Given the description of an element on the screen output the (x, y) to click on. 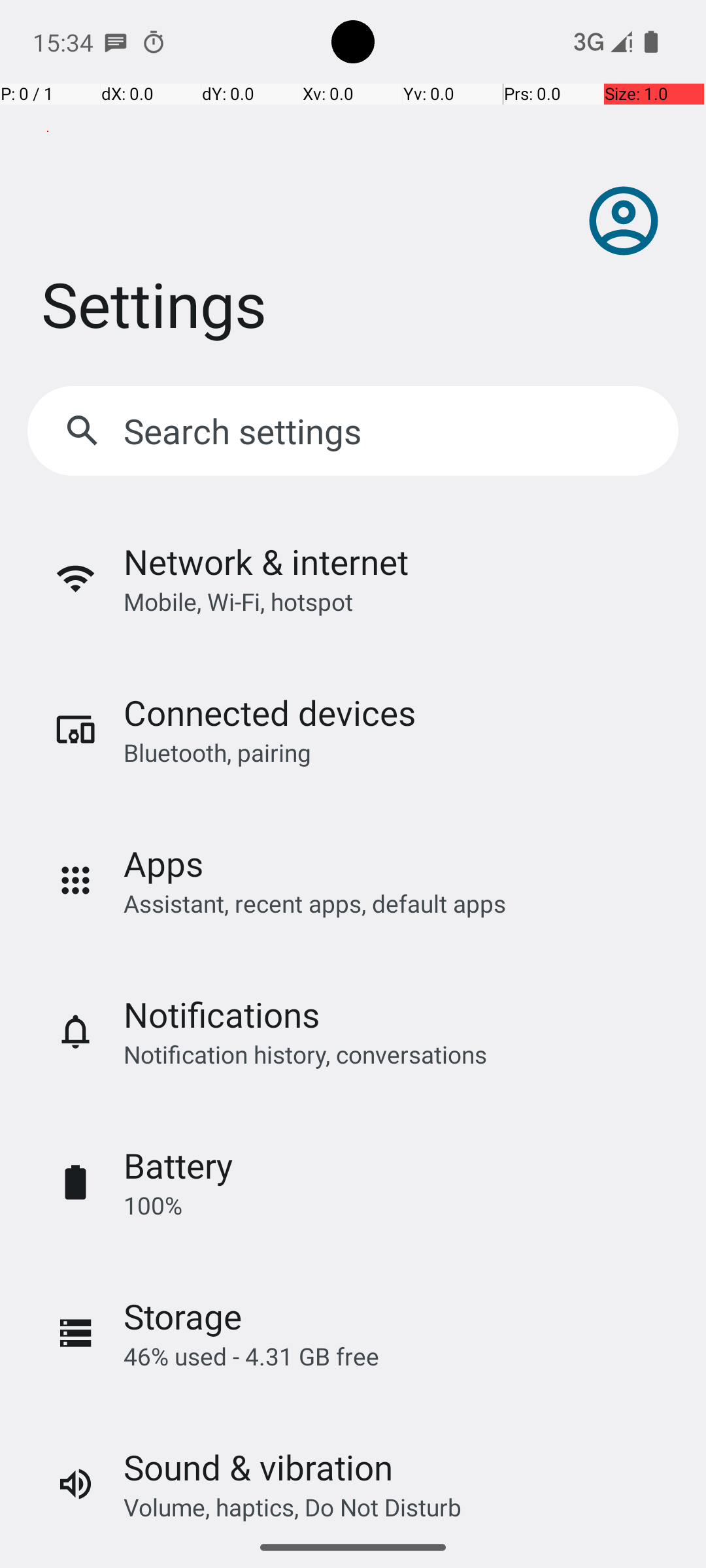
46% used - 4.31 GB free Element type: android.widget.TextView (251, 1355)
